Given the description of an element on the screen output the (x, y) to click on. 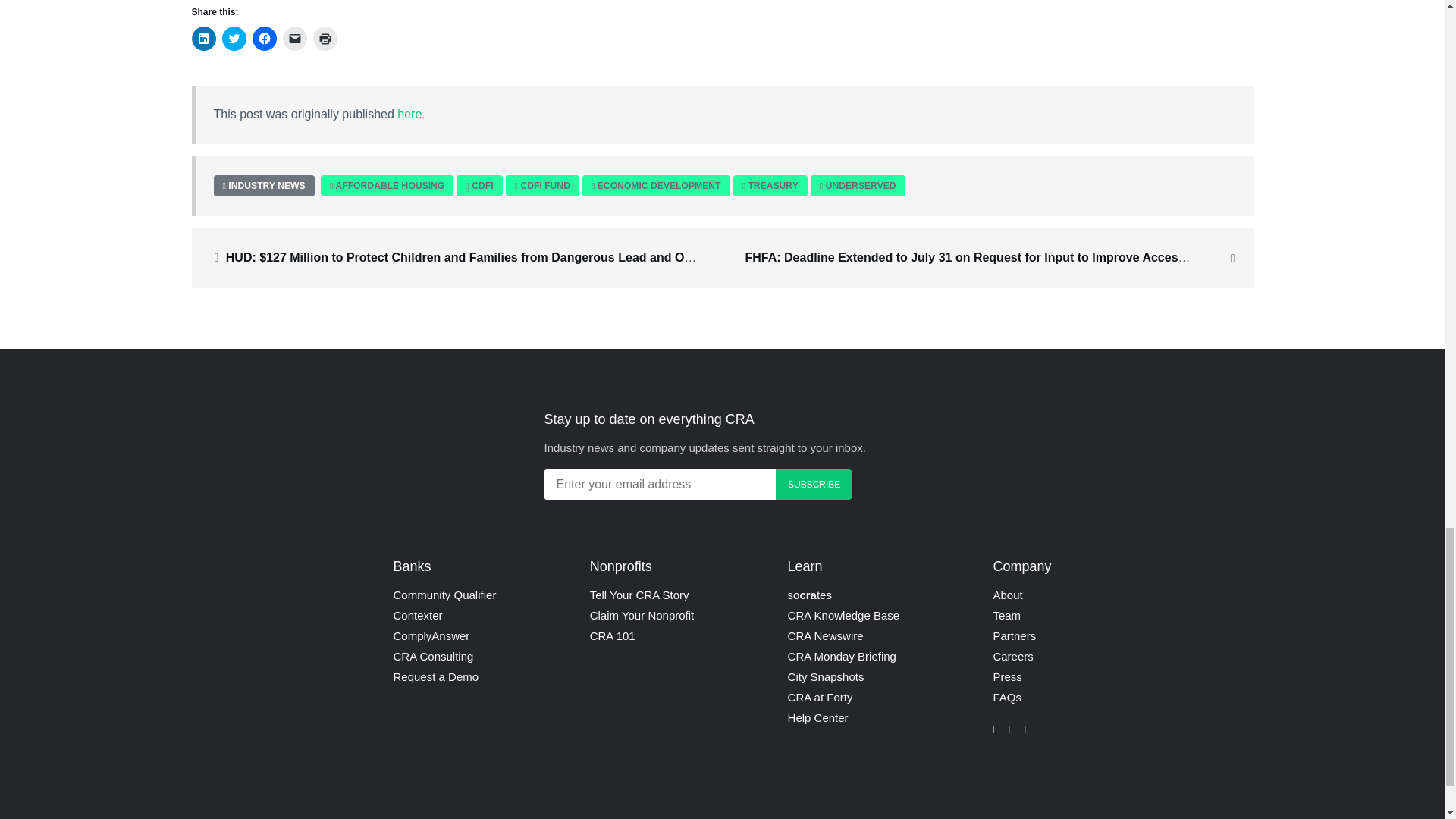
Claim Your Nonprofit (641, 615)
Community Qualifier (444, 594)
Click to share on Twitter (233, 38)
AFFORDABLE HOUSING (389, 185)
INDUSTRY NEWS (265, 184)
here. (411, 113)
CDFI (482, 185)
socrates (809, 594)
CRA Newswire (825, 635)
TREASURY (772, 185)
